Given the description of an element on the screen output the (x, y) to click on. 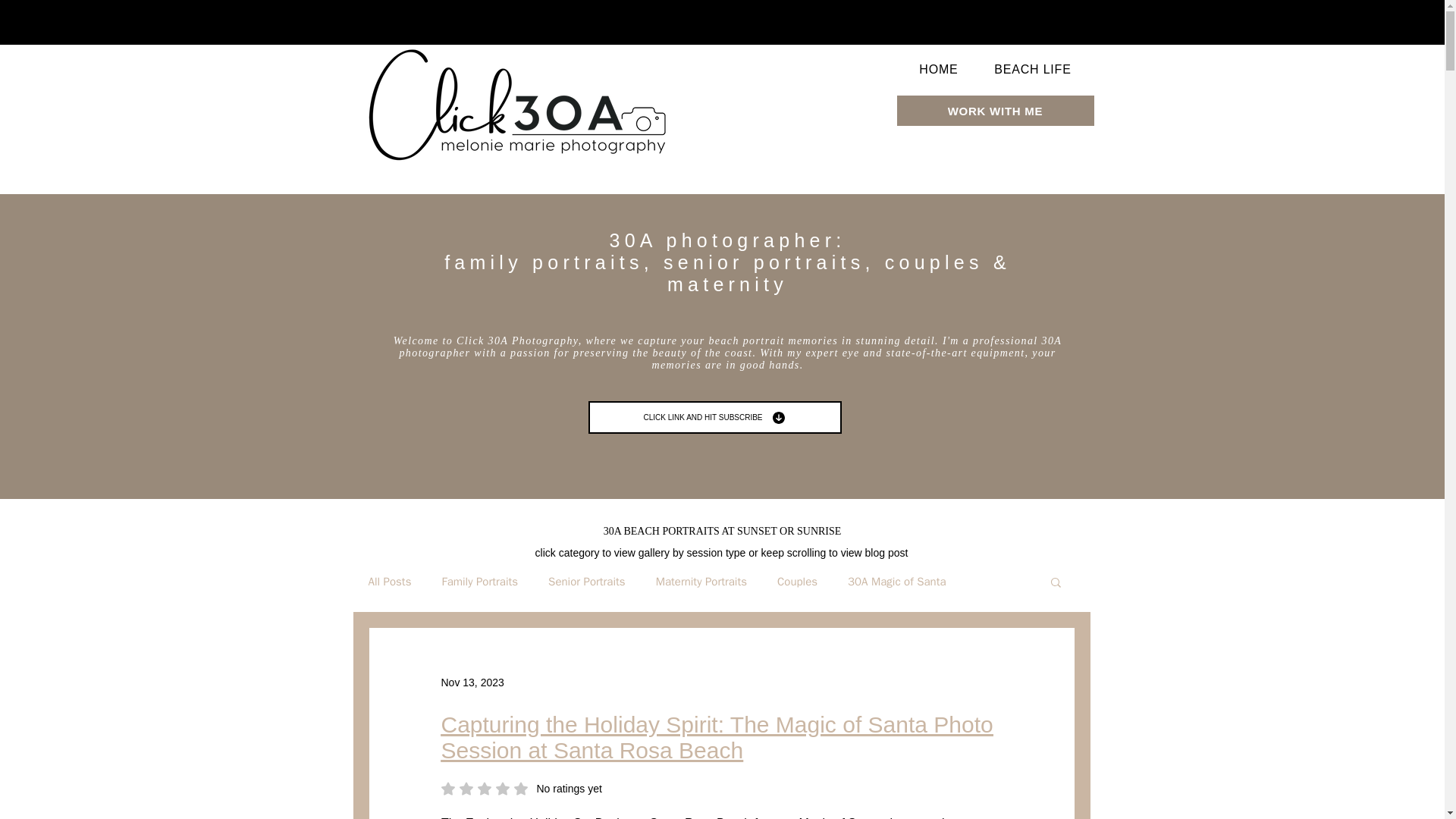
CLICK LINK AND HIT SUBSCRIBE (714, 417)
WORK WITH ME (994, 110)
Couples (796, 581)
30A Magic of Santa (895, 581)
Senior Portraits (587, 581)
Maternity Portraits (701, 581)
HOME (938, 69)
BEACH LIFE (521, 788)
Nov 13, 2023 (1032, 69)
